Given the description of an element on the screen output the (x, y) to click on. 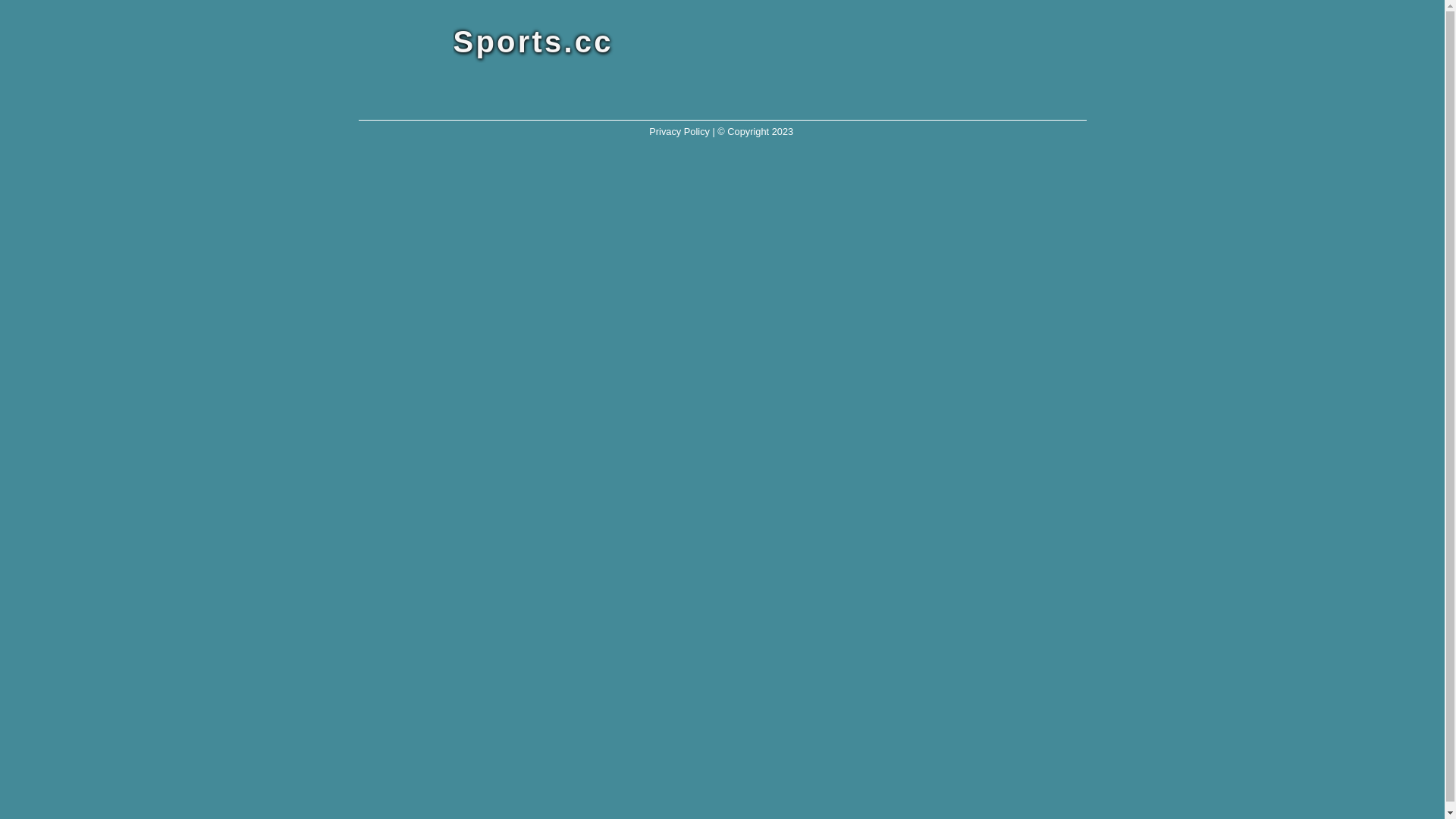
Sports.cc Element type: text (669, 42)
Privacy Policy Element type: text (679, 131)
